Given the description of an element on the screen output the (x, y) to click on. 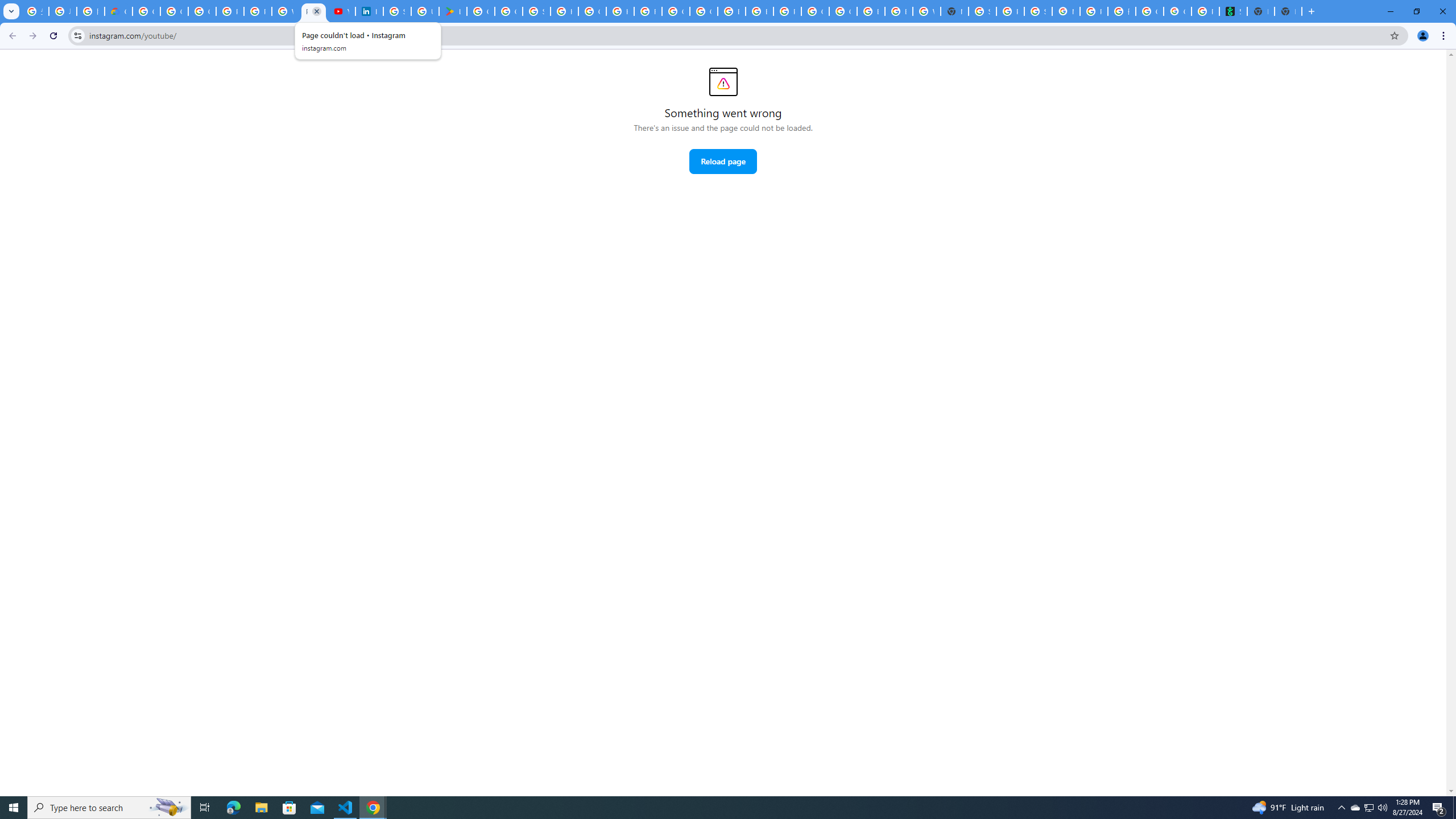
Privacy Help Center - Policies Help (257, 11)
New Tab (955, 11)
Error (723, 81)
Sign in - Google Accounts (982, 11)
